Given the description of an element on the screen output the (x, y) to click on. 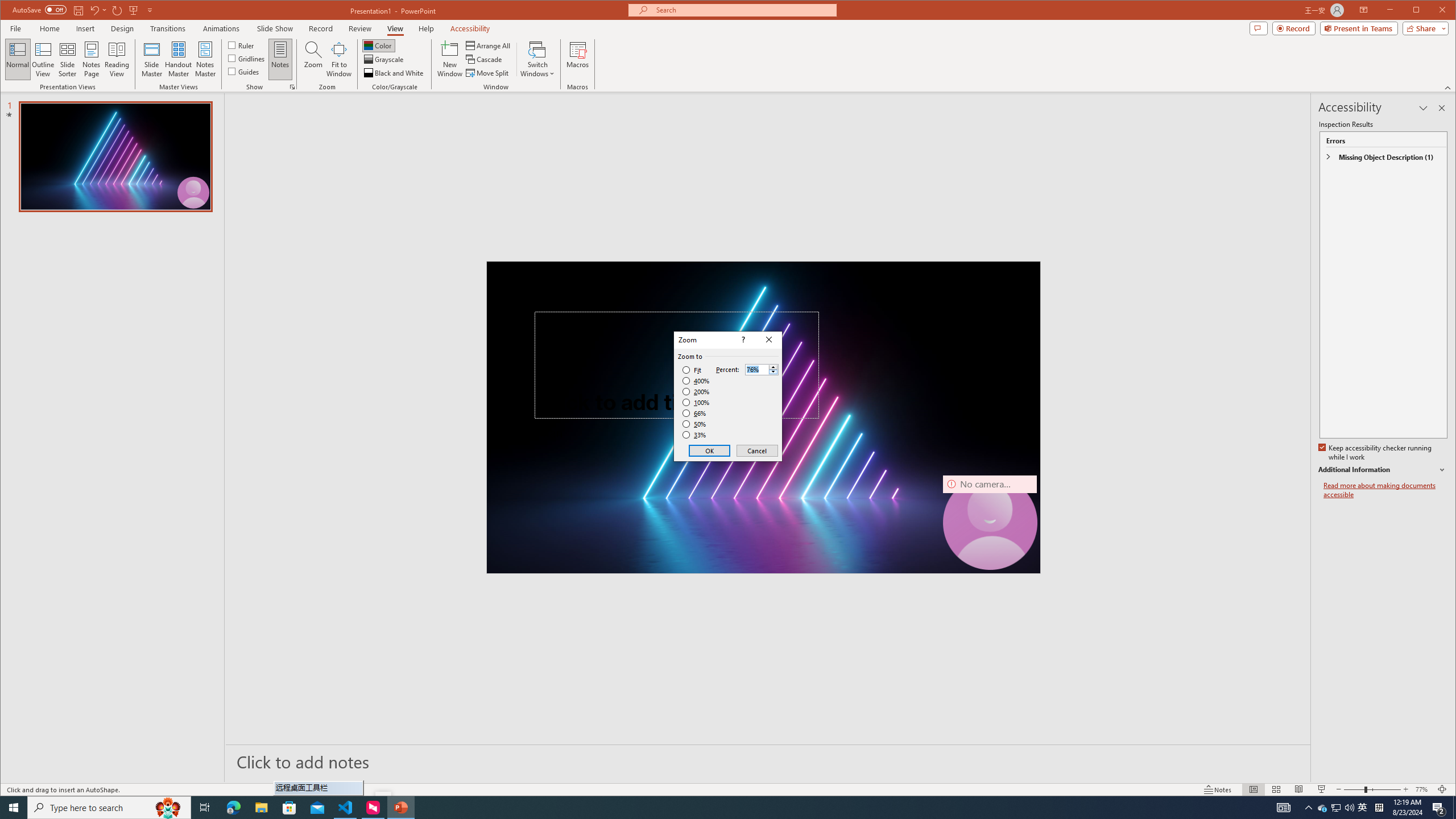
Camera 7, No camera detected. (990, 522)
Fit to Window (338, 59)
Percent (756, 369)
Arrange All (488, 45)
Grid Settings... (292, 86)
